Given the description of an element on the screen output the (x, y) to click on. 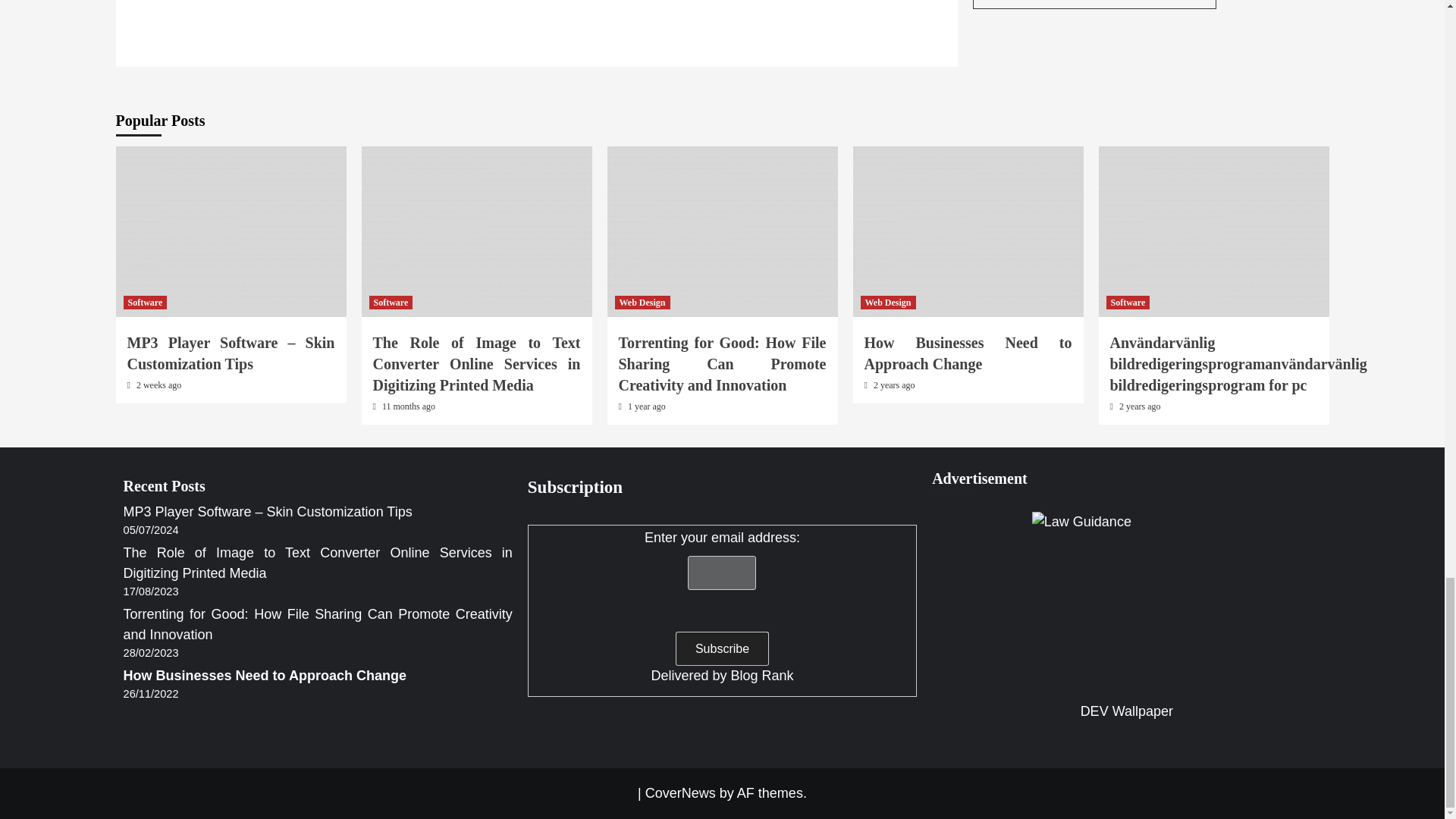
Law Guidance (1126, 606)
MP3 Player Software - Skin Customization Tips (230, 231)
Subscribe (721, 648)
